Given the description of an element on the screen output the (x, y) to click on. 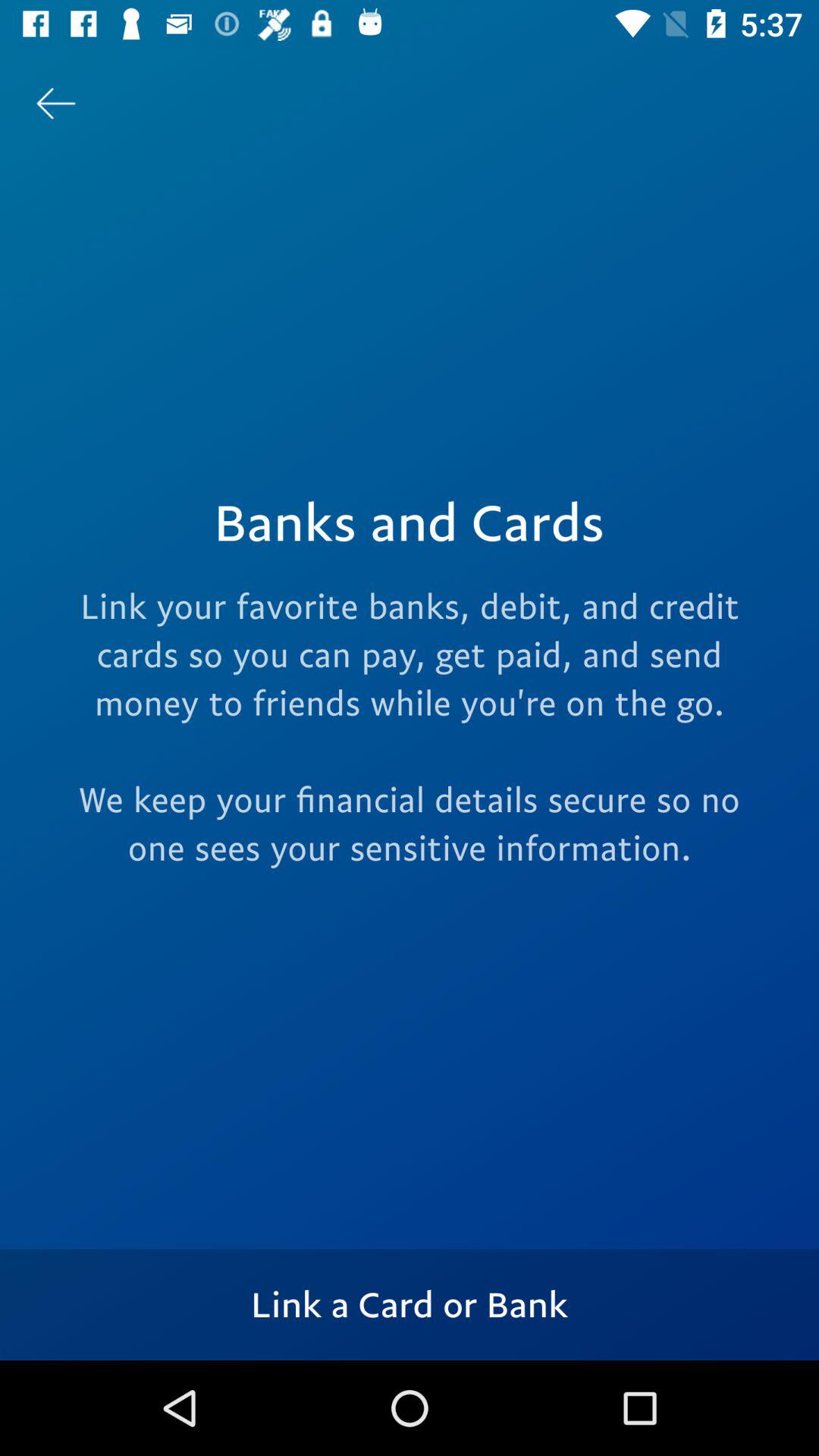
turn off the link a card icon (409, 1304)
